Given the description of an element on the screen output the (x, y) to click on. 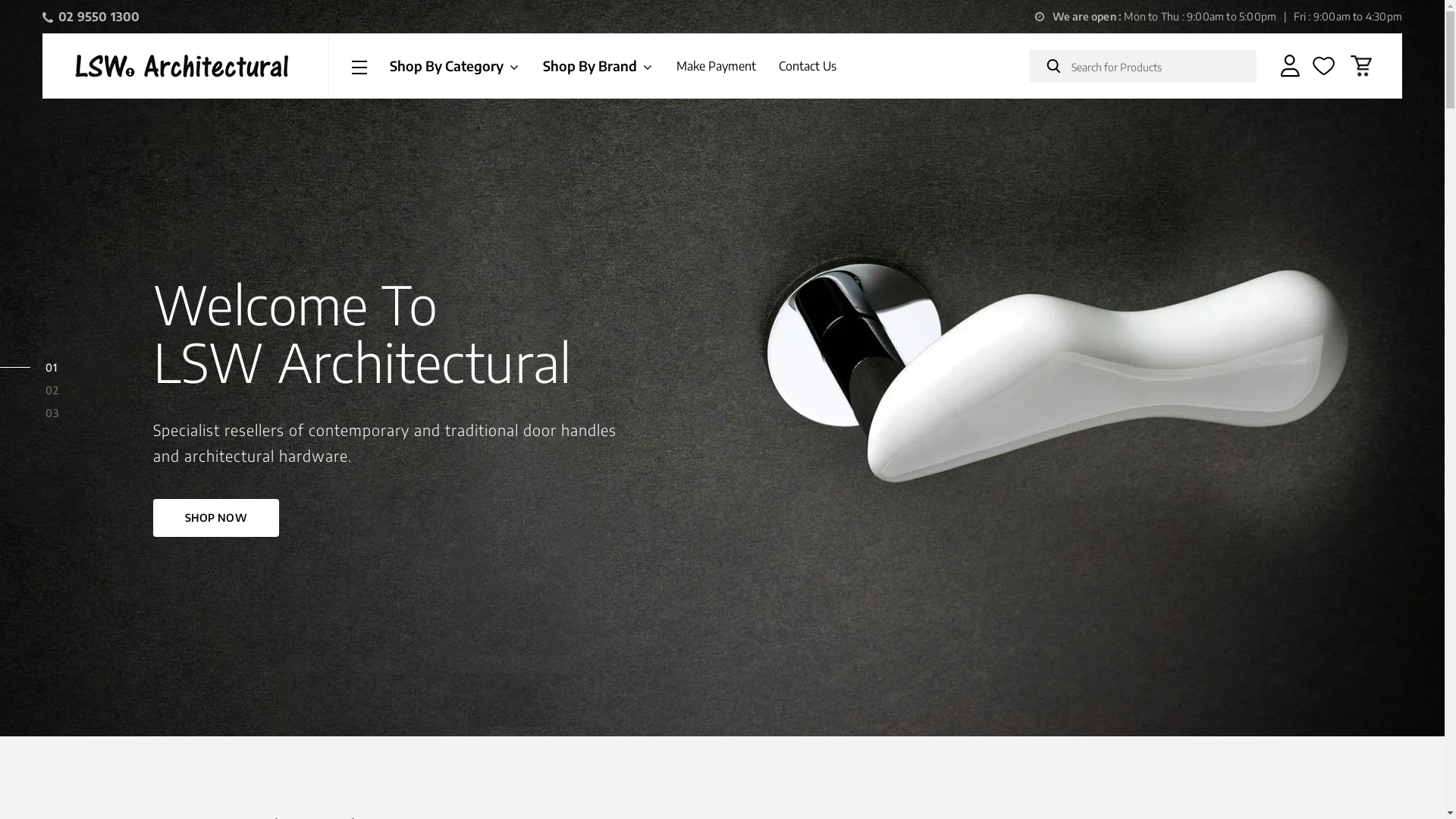
01 Element type: text (51, 366)
Contact Us Element type: text (807, 65)
03 Element type: text (52, 412)
Shop By Brand Element type: text (597, 65)
Shop By Category Element type: text (454, 65)
02 9550 1300 Element type: text (91, 16)
Make Payment Element type: text (716, 65)
02 Element type: text (52, 389)
SHOP NOW Element type: text (216, 517)
